Given the description of an element on the screen output the (x, y) to click on. 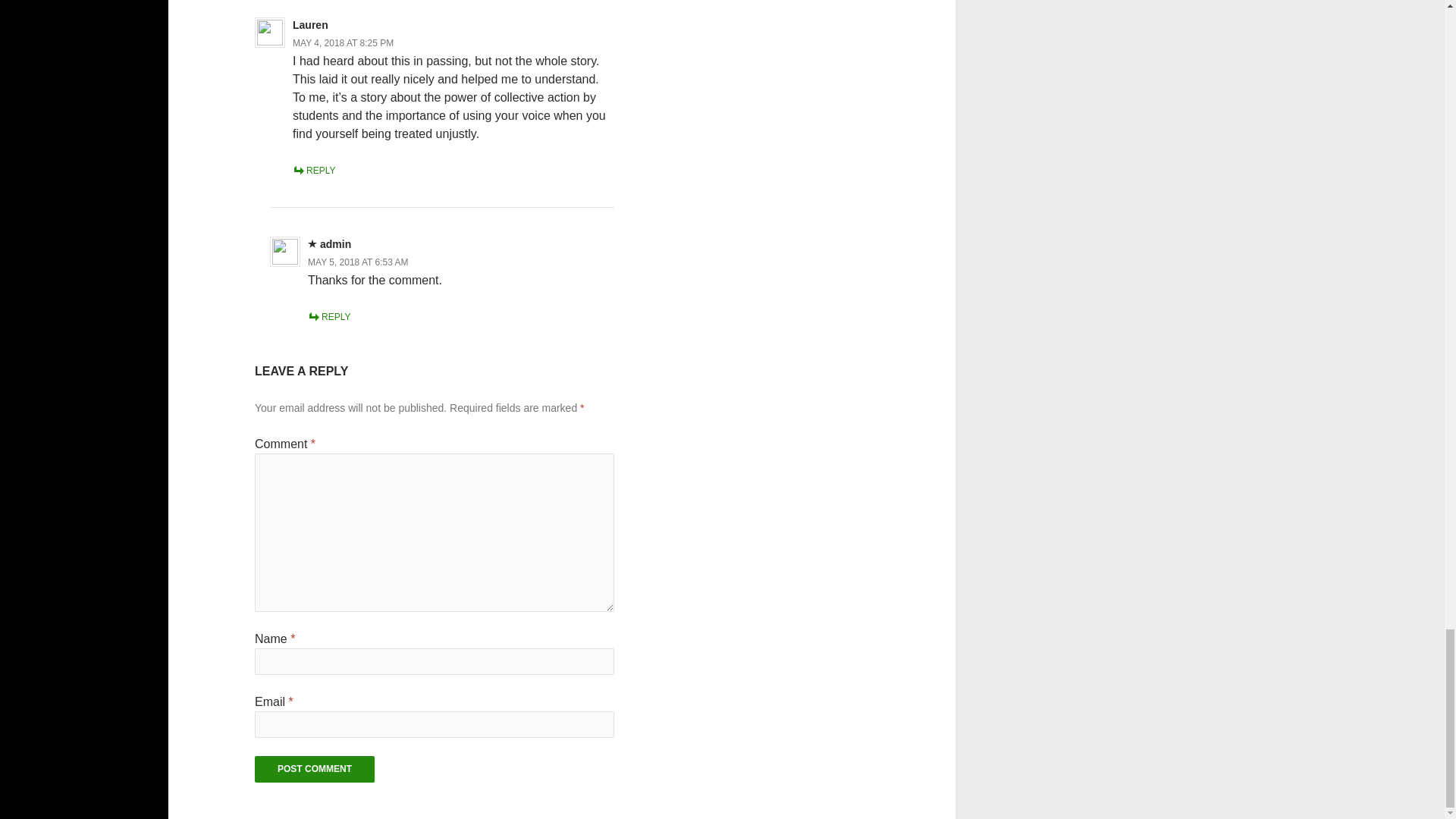
MAY 5, 2018 AT 6:53 AM (358, 262)
Post Comment (314, 768)
REPLY (313, 170)
REPLY (328, 317)
MAY 4, 2018 AT 8:25 PM (342, 42)
Post Comment (314, 768)
